Given the description of an element on the screen output the (x, y) to click on. 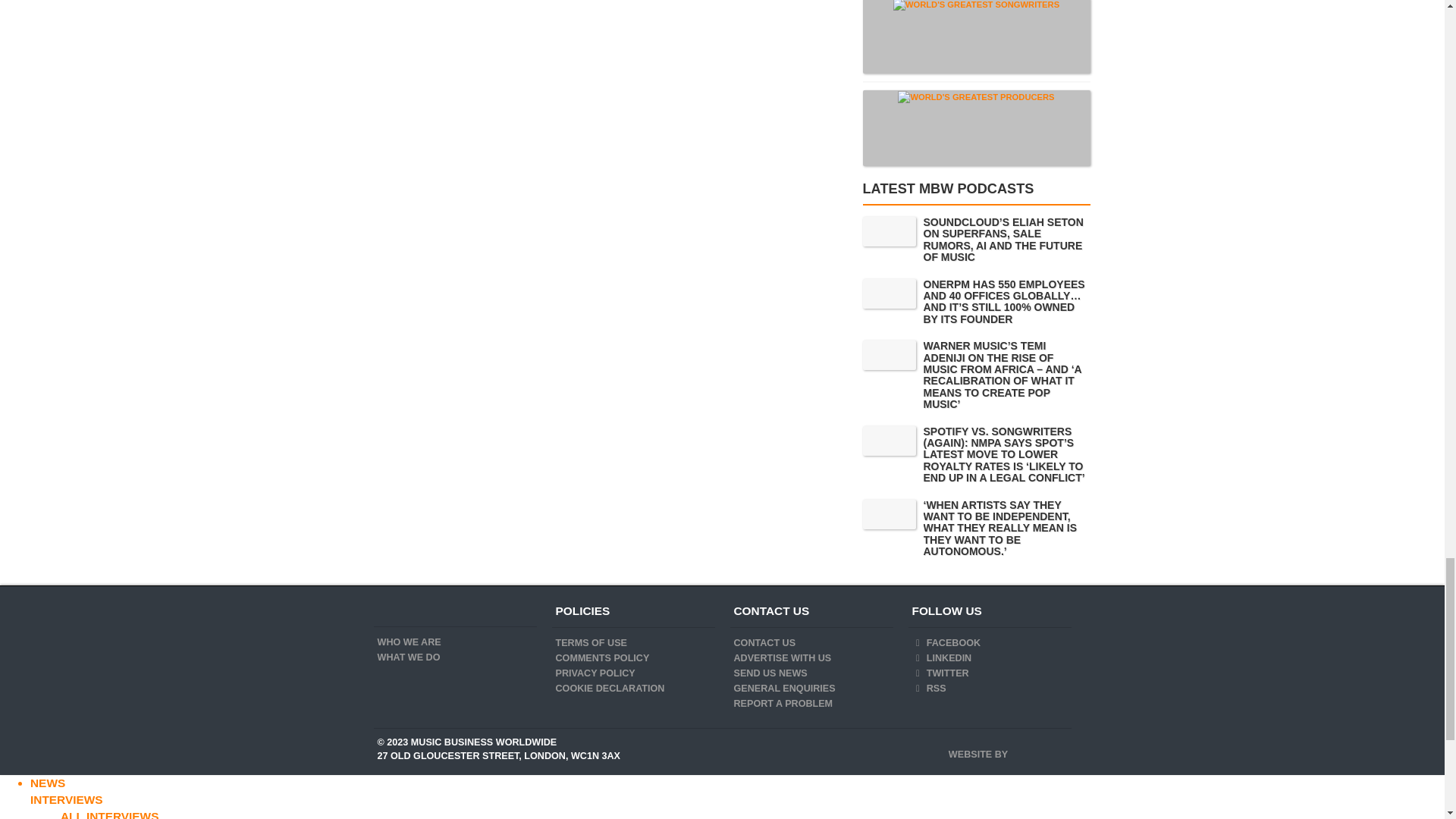
Music Business Worldwide (398, 611)
44 Bytes - Intelligent Internet Services (1038, 749)
